Given the description of an element on the screen output the (x, y) to click on. 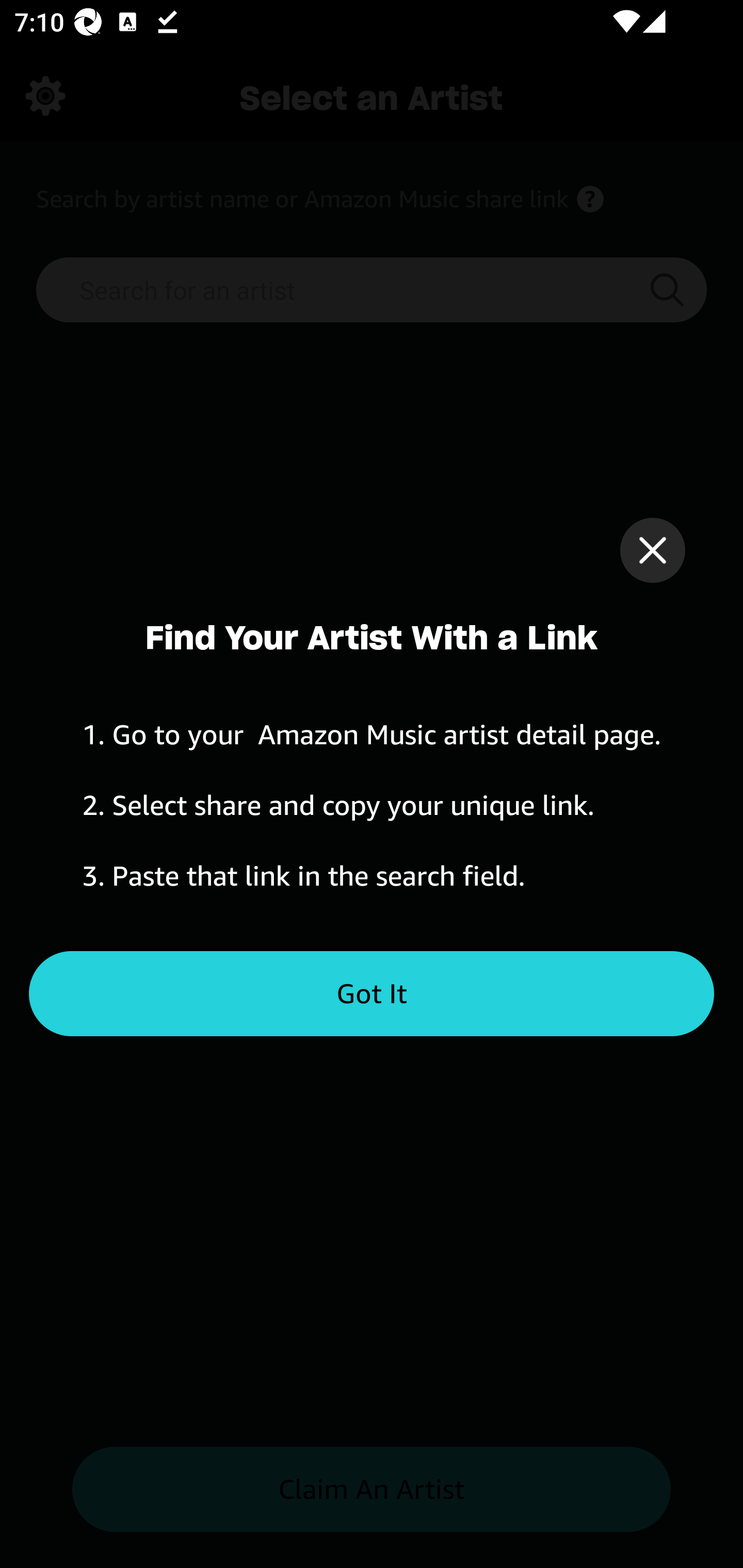
Generic_dismiss  icon (652, 550)
Got it button Got It (371, 993)
